Given the description of an element on the screen output the (x, y) to click on. 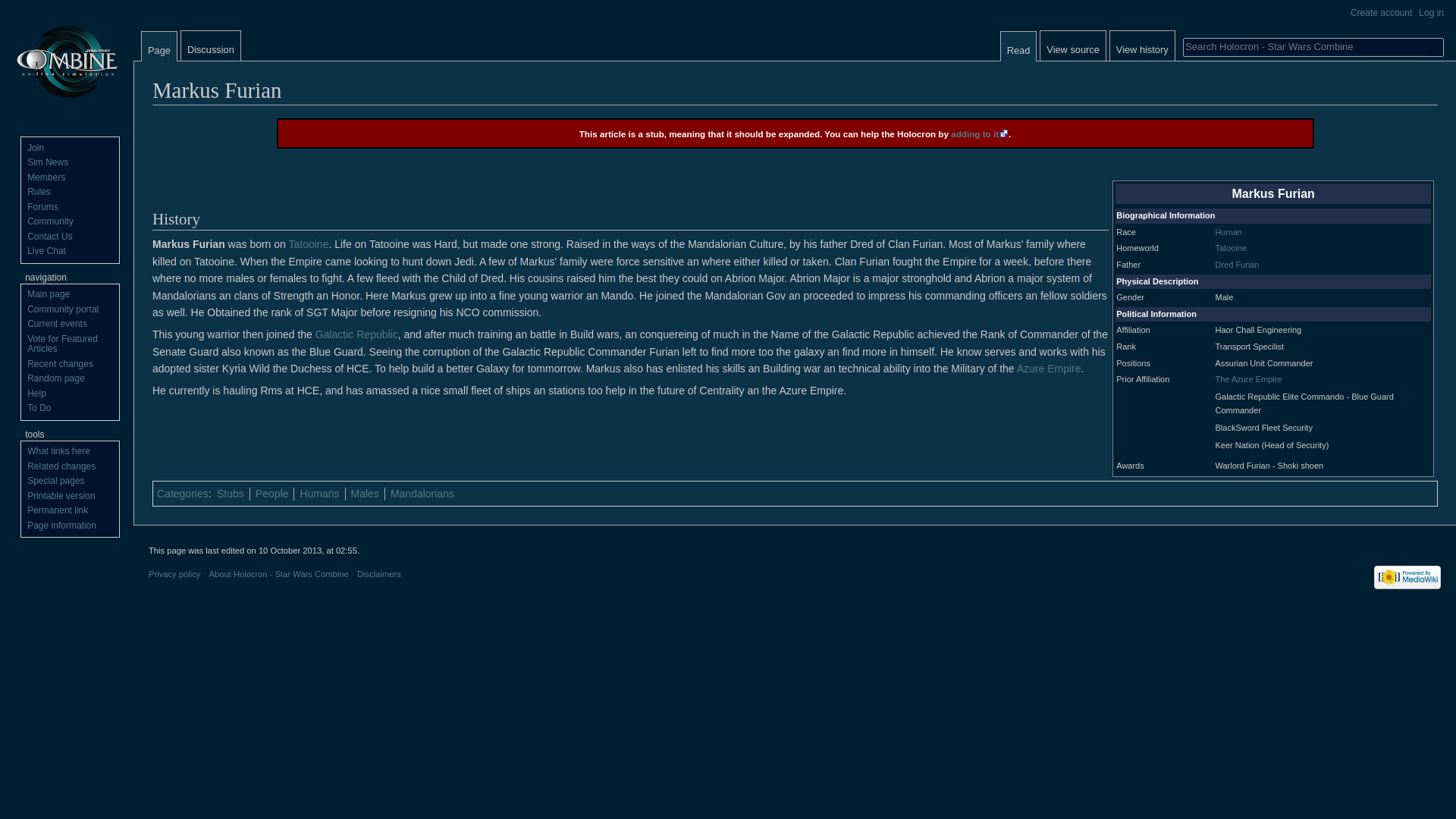
Category:Mandalorians (422, 493)
The Azure Empire (1247, 379)
Forums (42, 206)
Dred Furian (1236, 264)
View source (1073, 46)
Category:People (272, 493)
Azure Empire (1048, 368)
Categories (182, 493)
View history (1141, 46)
